Given the description of an element on the screen output the (x, y) to click on. 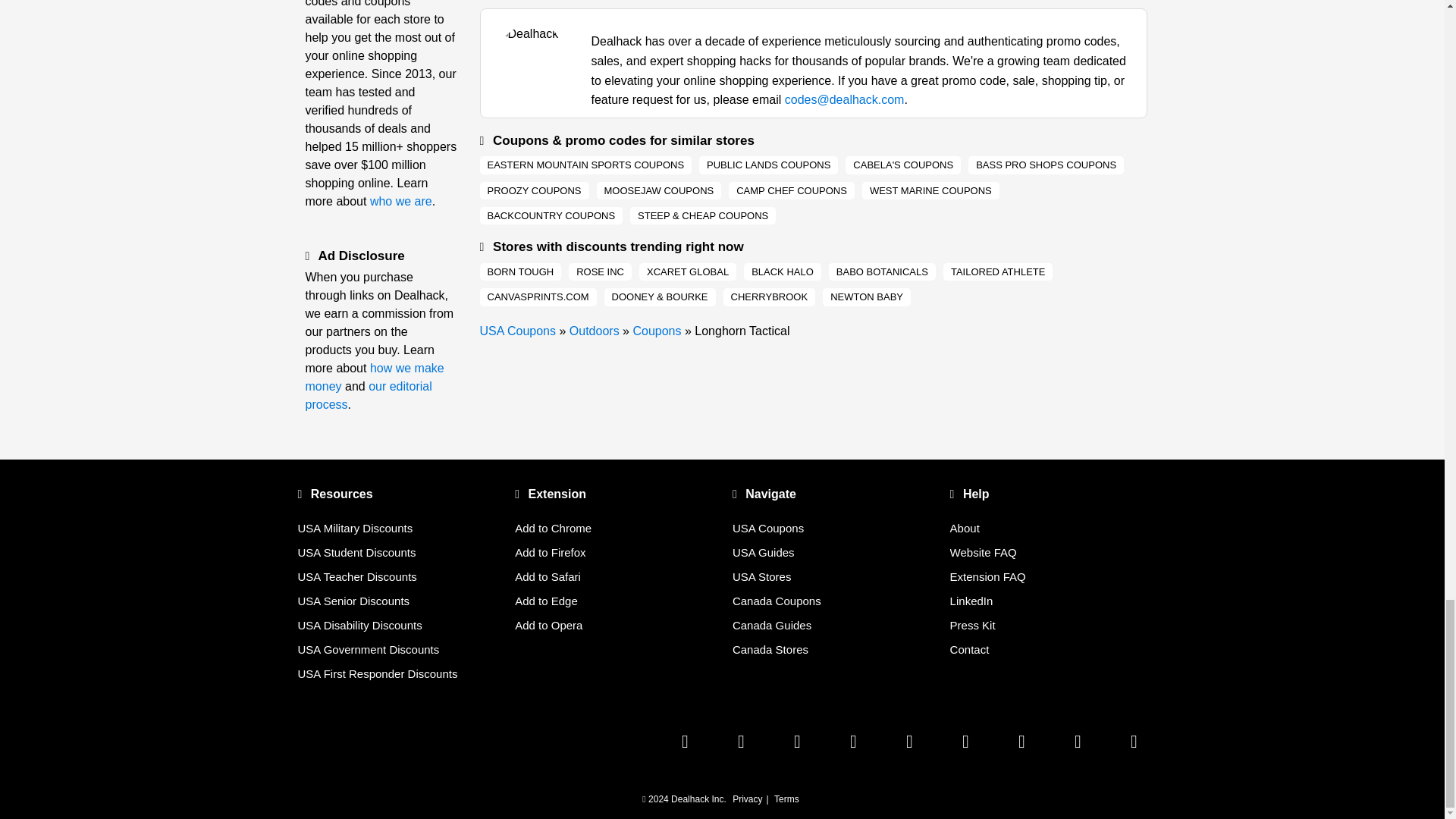
Dealhack (517, 330)
